Given the description of an element on the screen output the (x, y) to click on. 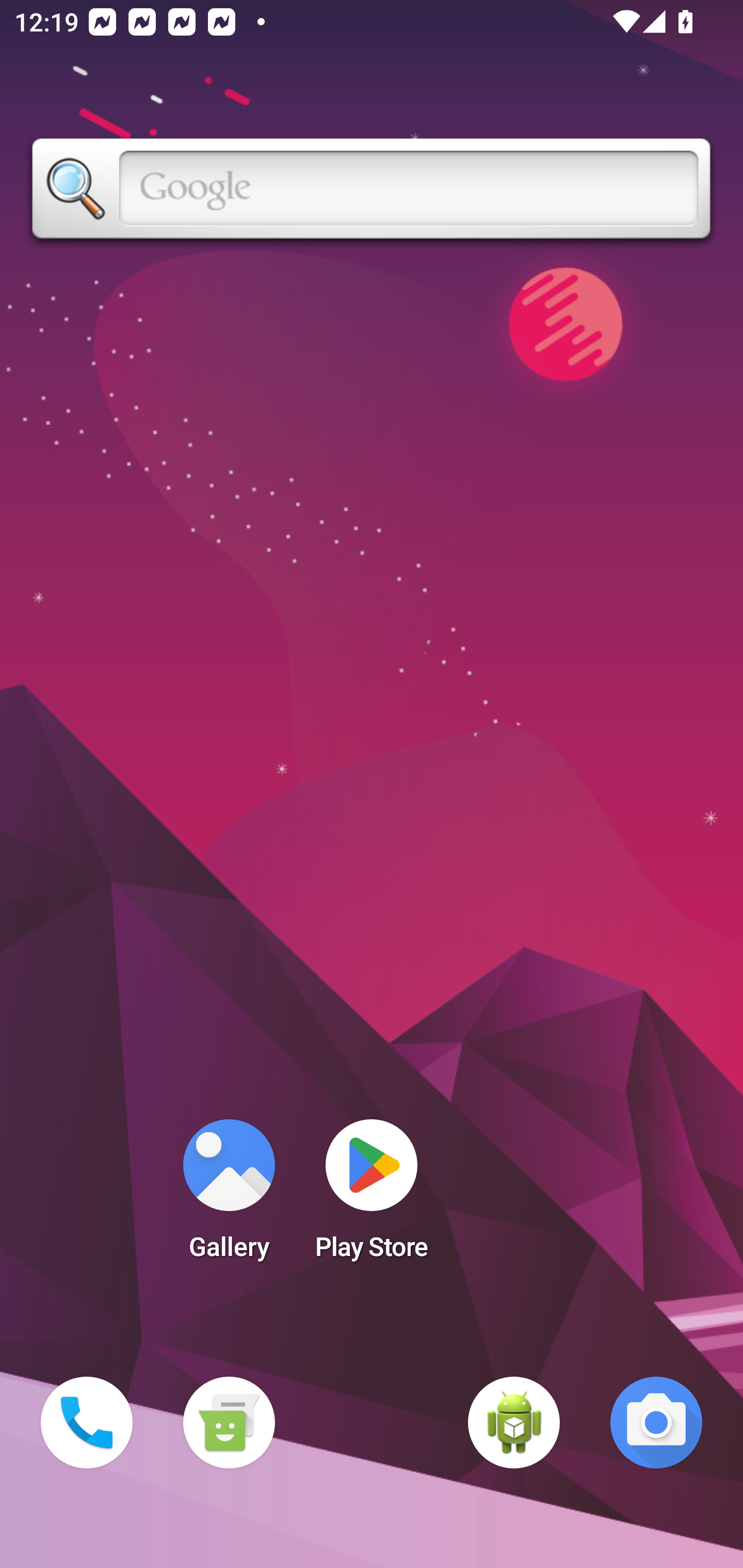
Gallery (228, 1195)
Play Store (371, 1195)
Phone (86, 1422)
Messaging (228, 1422)
WebView Browser Tester (513, 1422)
Camera (656, 1422)
